Given the description of an element on the screen output the (x, y) to click on. 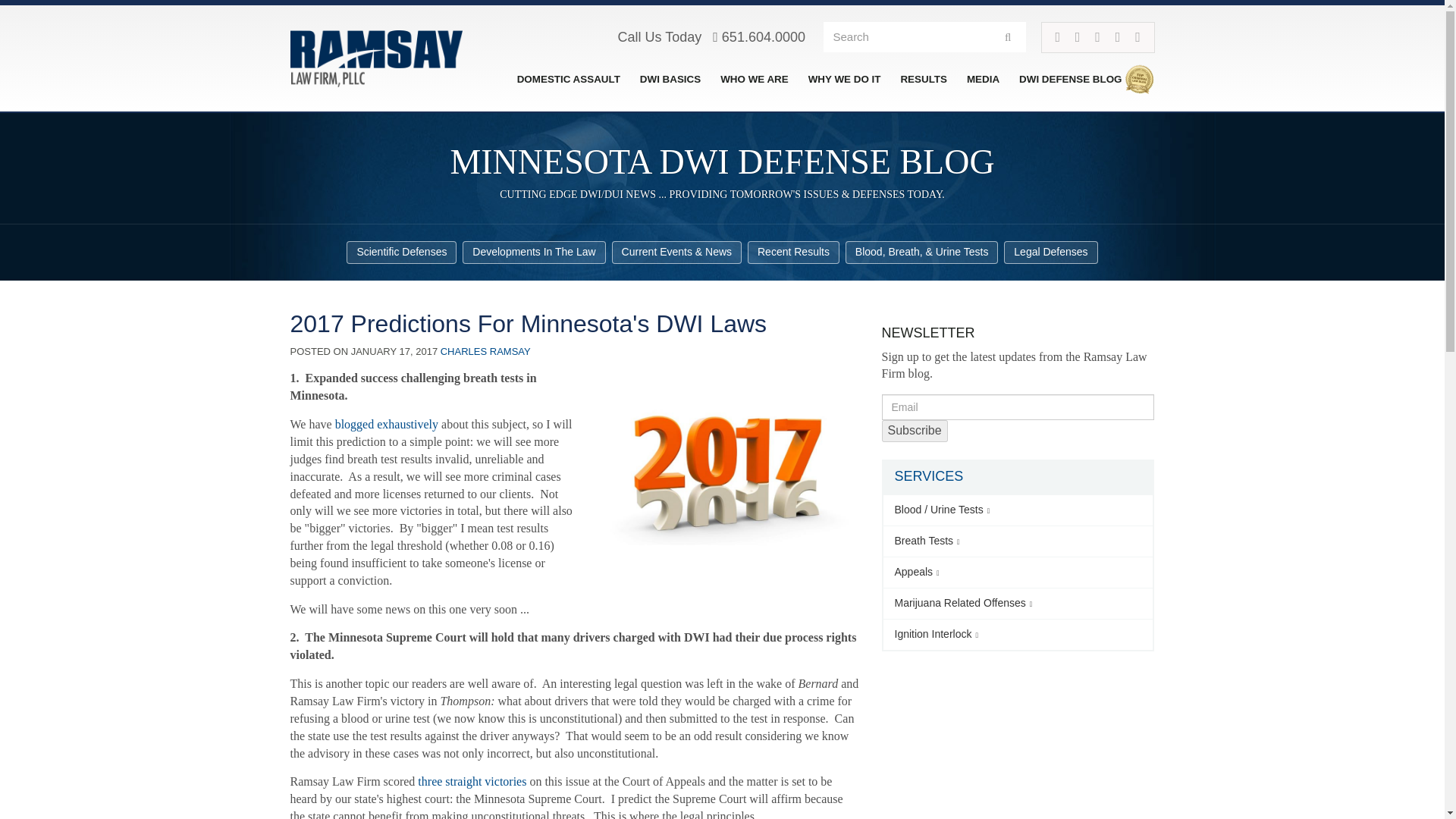
Search (1008, 36)
DOMESTIC ASSAULT (568, 79)
WHY WE DO IT (844, 79)
651.604.0000 (759, 37)
RESULTS (923, 79)
DWI BASICS (670, 79)
WHO WE ARE (754, 79)
